Given the description of an element on the screen output the (x, y) to click on. 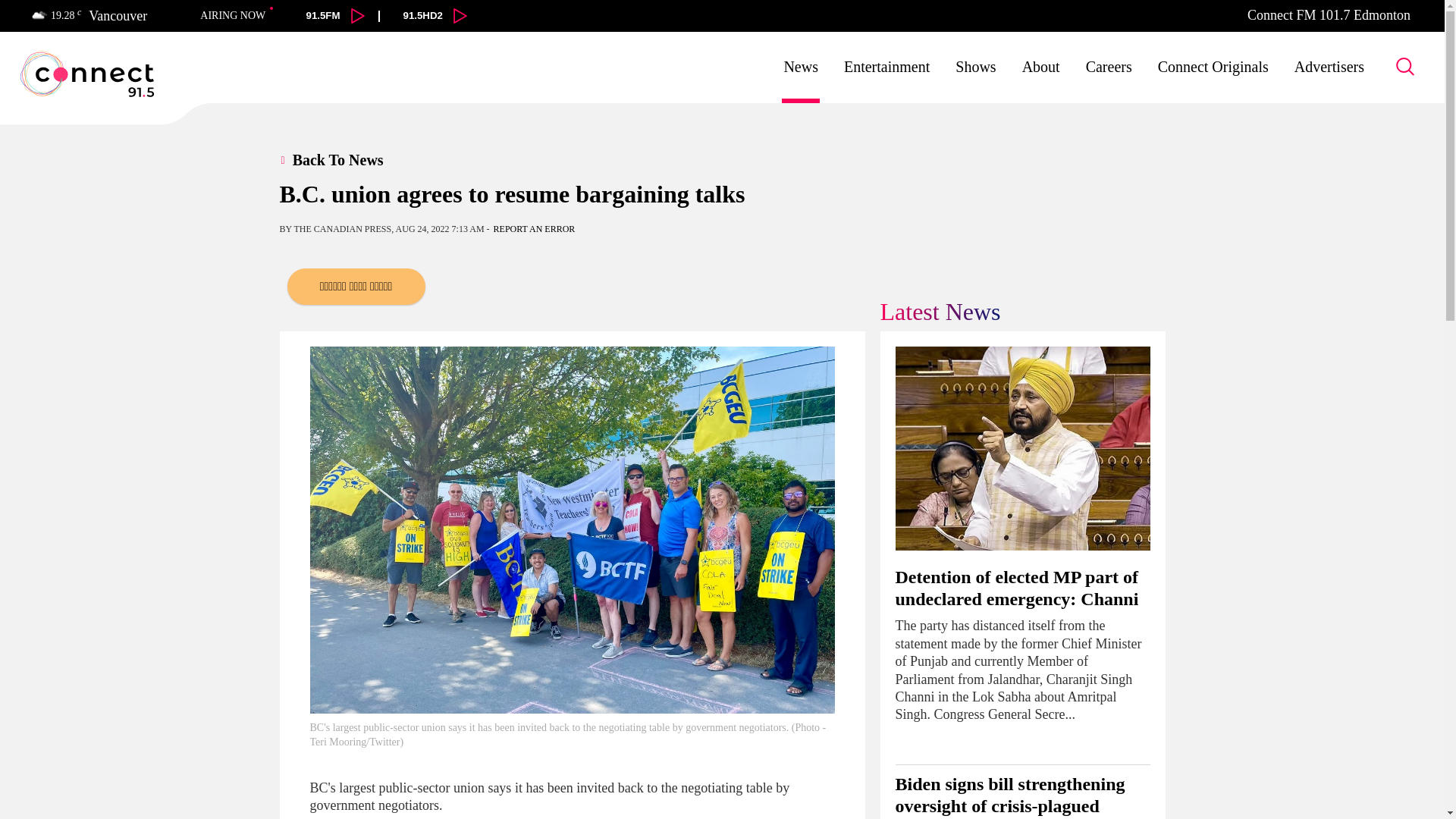
Advertisers (1328, 66)
Connect FM 101.7 Edmonton (1328, 14)
Entertainment (887, 66)
REPORT AN ERROR (534, 228)
Back To News (349, 159)
Connect Originals (1212, 66)
Play (357, 15)
Play (459, 15)
